Given the description of an element on the screen output the (x, y) to click on. 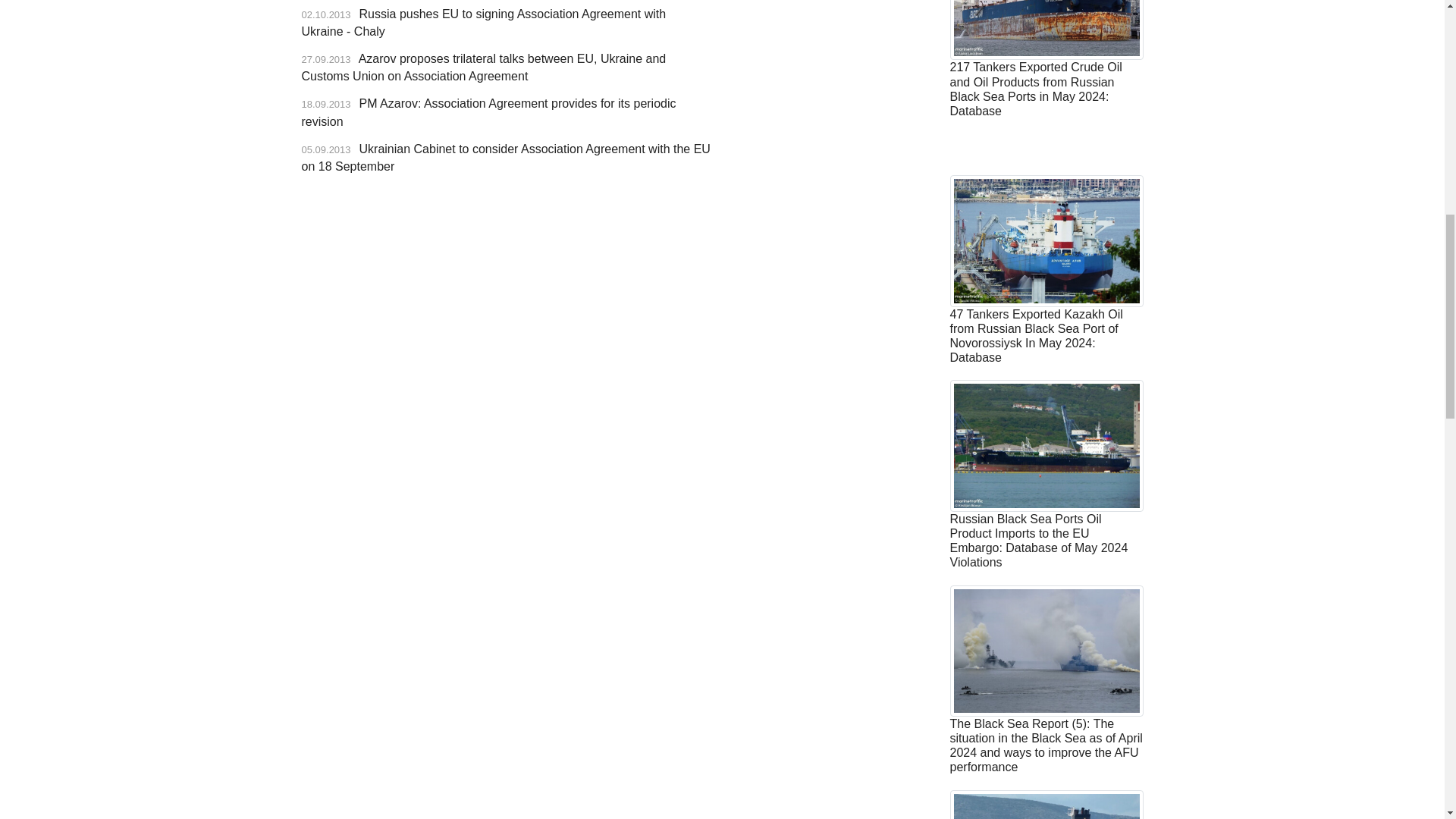
Advertisement (830, 66)
